Given the description of an element on the screen output the (x, y) to click on. 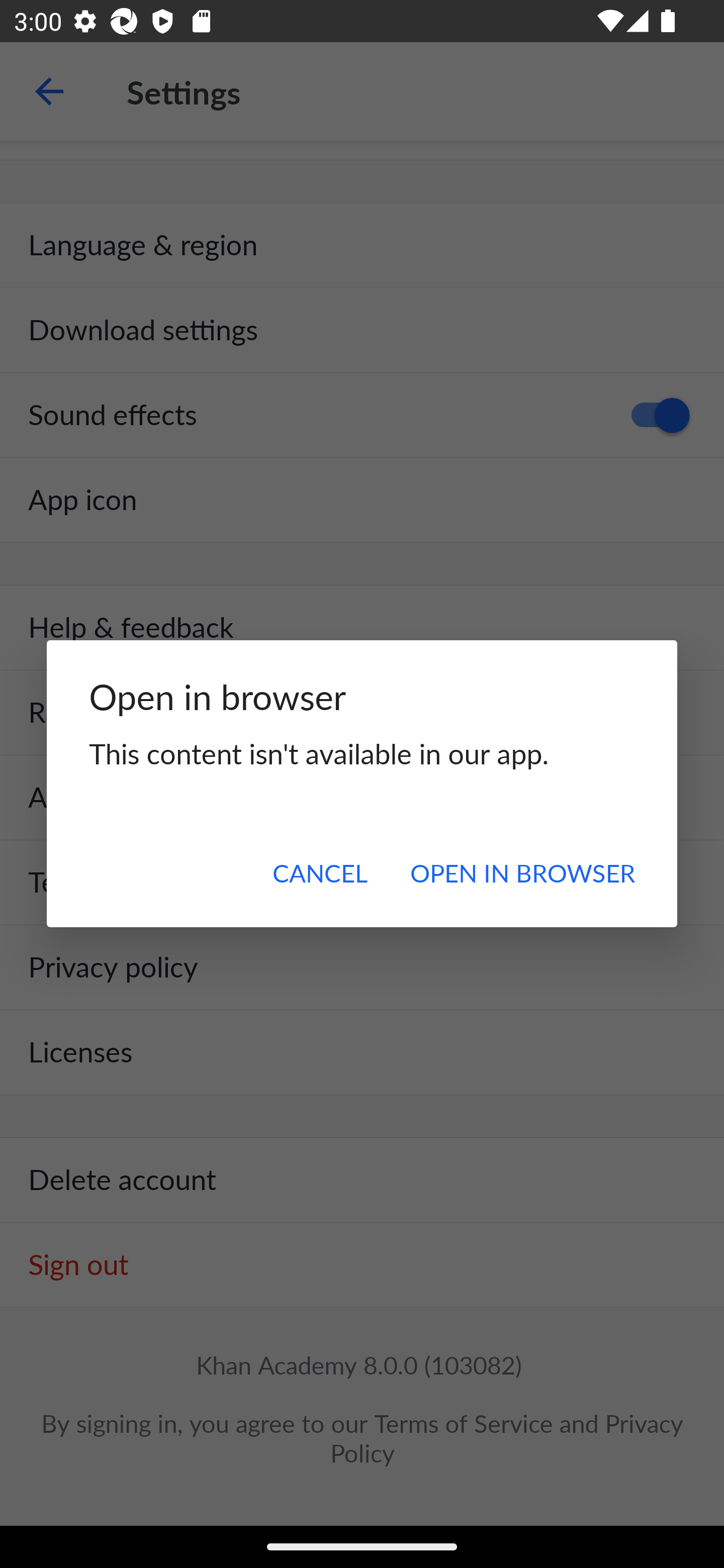
CANCEL (319, 872)
OPEN IN BROWSER (521, 872)
